Given the description of an element on the screen output the (x, y) to click on. 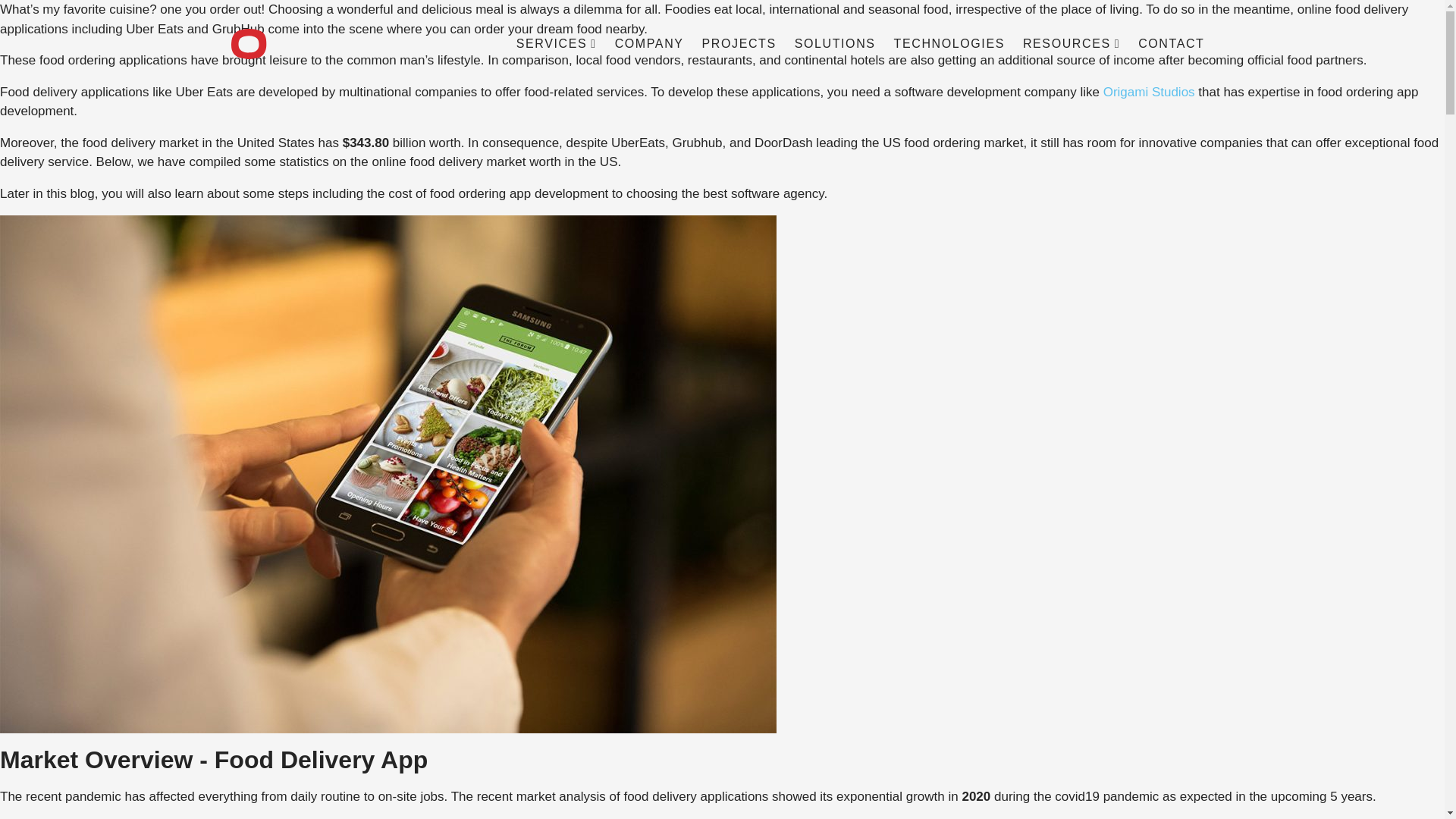
SERVICES (555, 44)
PROJECTS (739, 44)
RESOURCES (1071, 44)
COMPANY (649, 44)
TECHNOLOGIES (949, 44)
SOLUTIONS (835, 44)
CONTACT (1170, 44)
